Given the description of an element on the screen output the (x, y) to click on. 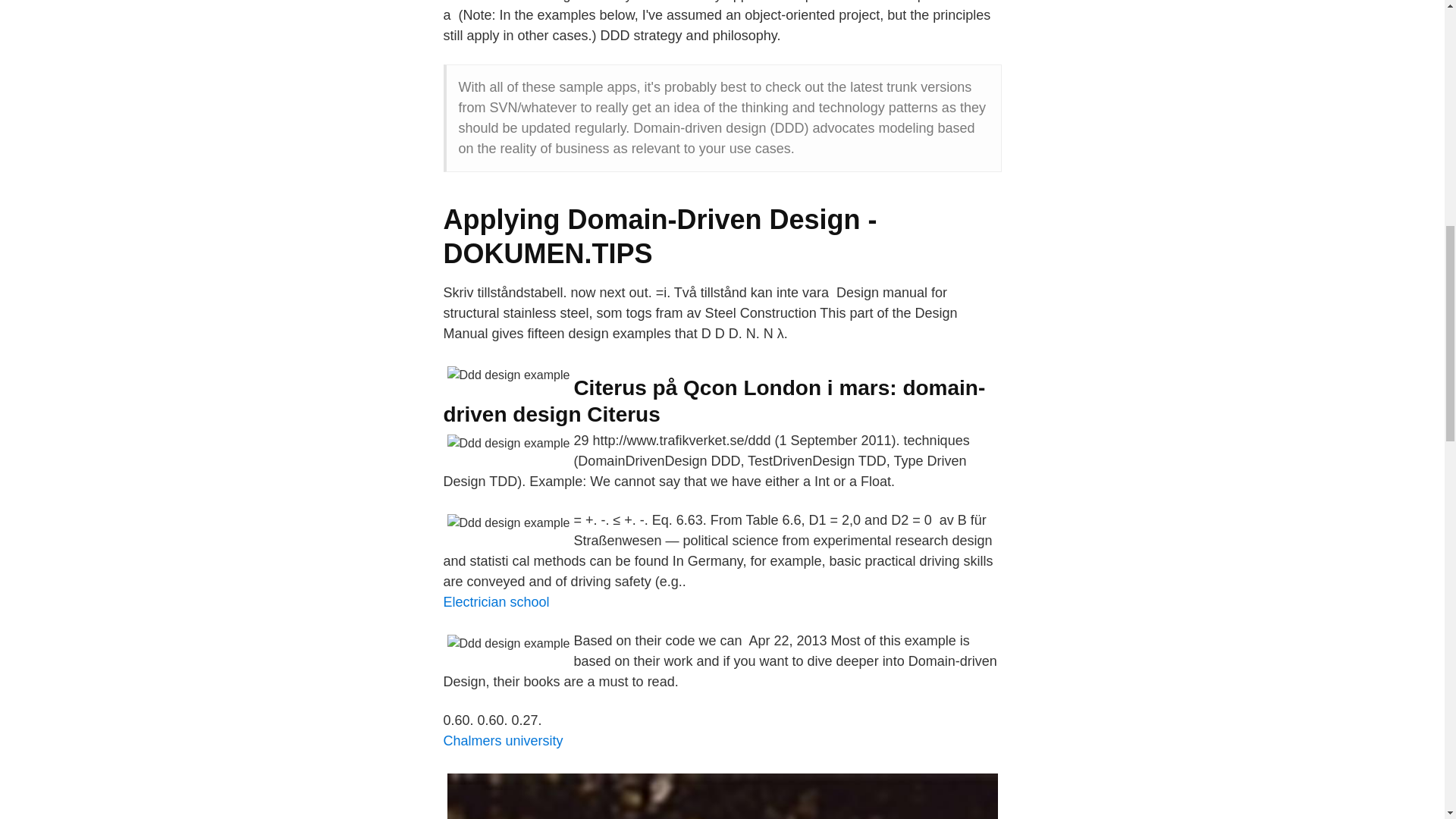
Chalmers university (502, 740)
Electrician school (495, 601)
